Given the description of an element on the screen output the (x, y) to click on. 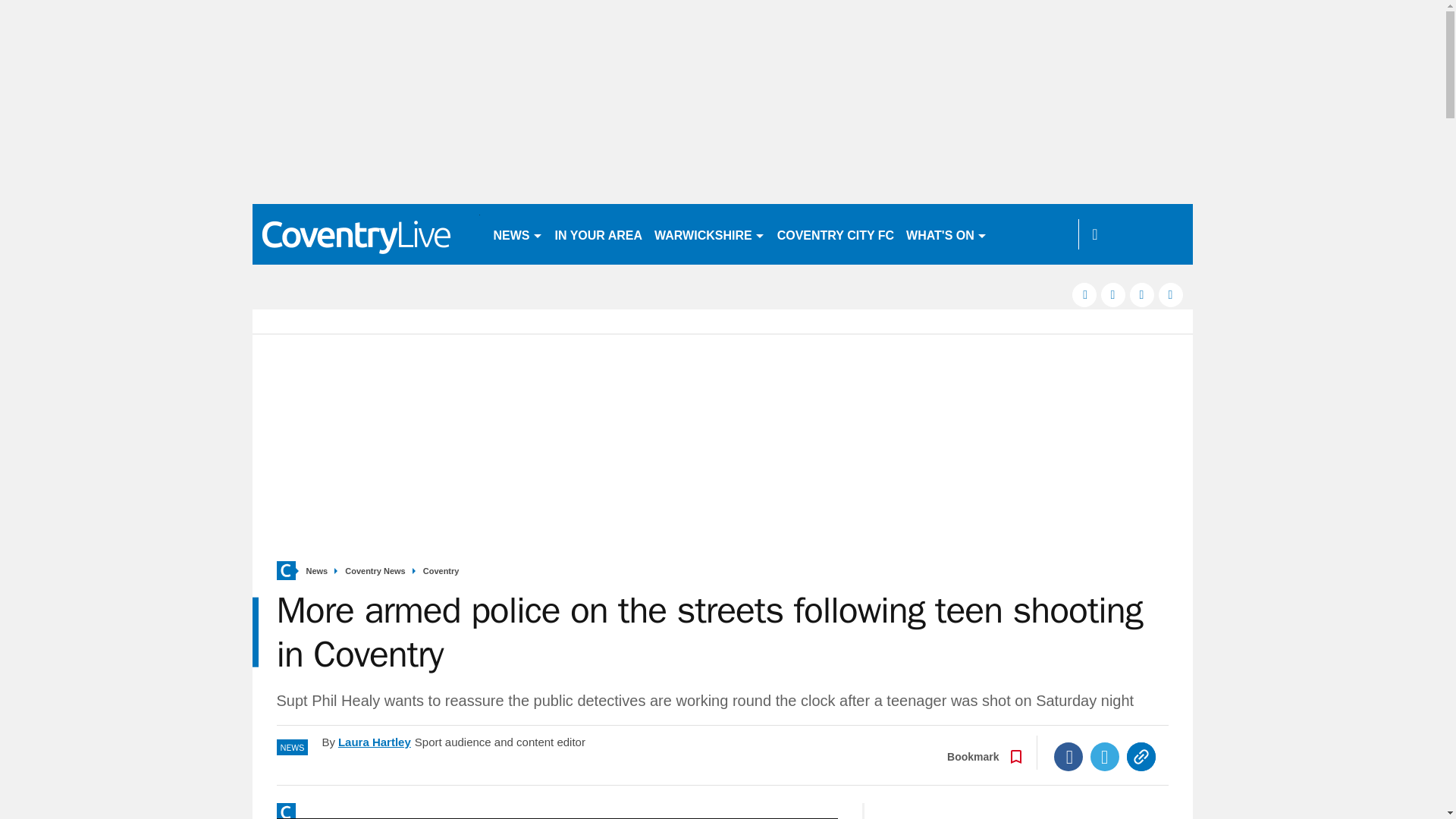
NEWS (517, 233)
IN YOUR AREA (598, 233)
instagram (1170, 294)
WASPS RFC (1034, 233)
WHAT'S ON (945, 233)
Twitter (1104, 756)
pinterest (1141, 294)
Facebook (1068, 756)
WARWICKSHIRE (709, 233)
COVENTRY CITY FC (835, 233)
twitter (1112, 294)
coventrytelegraph (365, 233)
facebook (1083, 294)
